Given the description of an element on the screen output the (x, y) to click on. 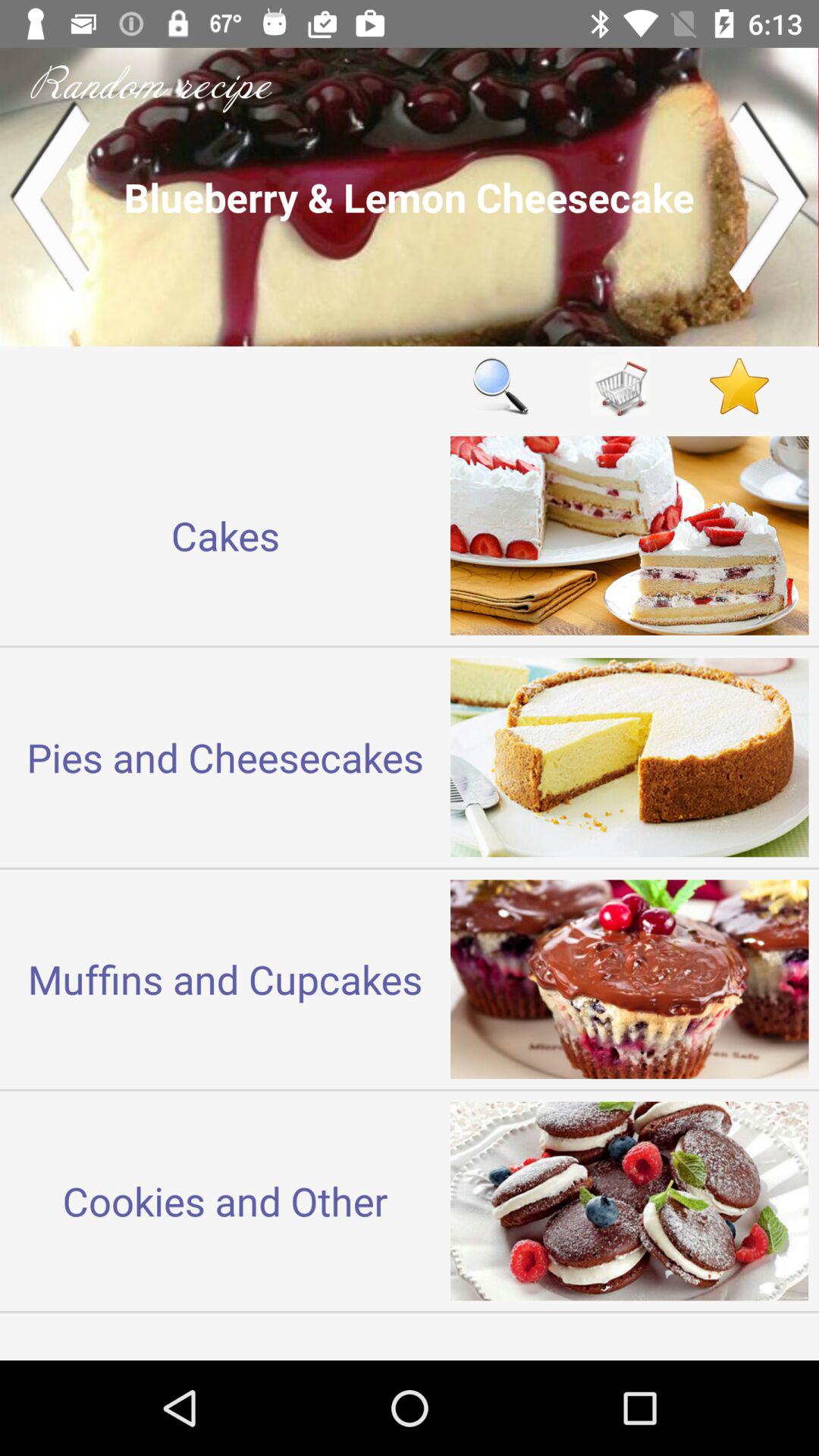
search (500, 385)
